Given the description of an element on the screen output the (x, y) to click on. 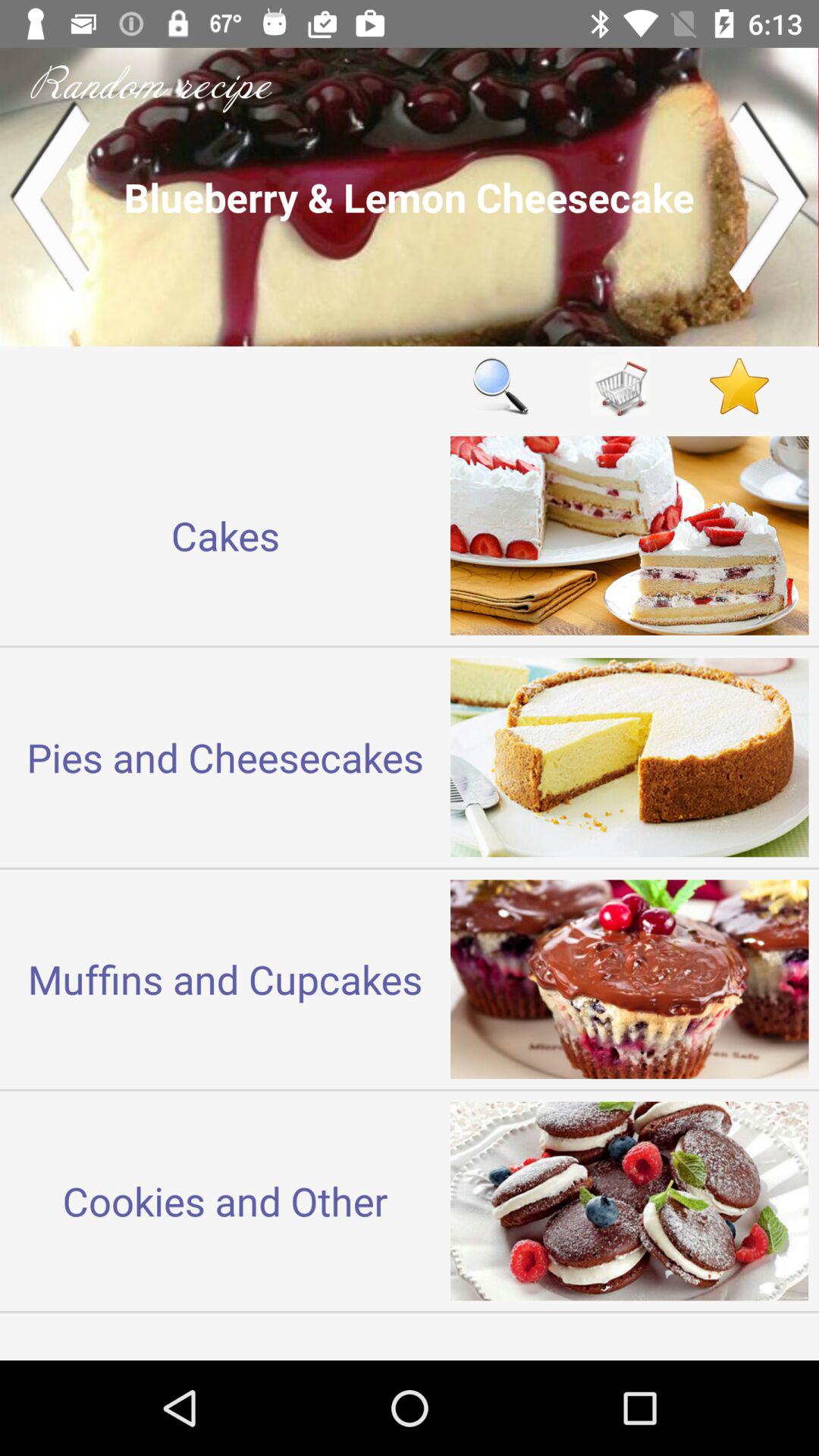
search (500, 385)
